Given the description of an element on the screen output the (x, y) to click on. 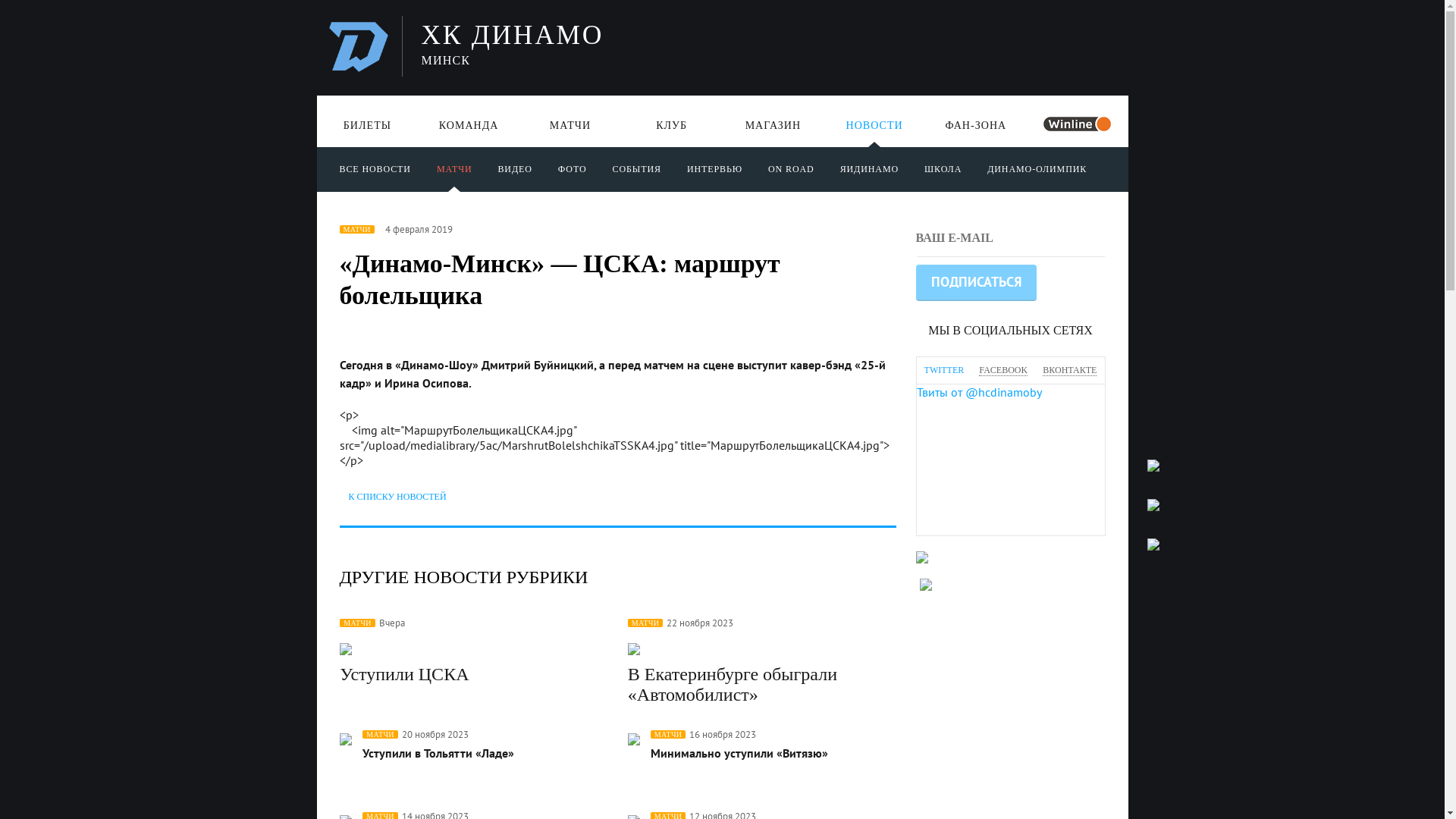
ON ROAD Element type: text (791, 166)
TWITTER Element type: text (943, 370)
Intagram Element type: text (1166, 359)
FACEBOOK Element type: text (1003, 370)
YouTube Element type: text (1166, 438)
Facebook Element type: text (1166, 280)
Twitter Element type: text (1166, 319)
Facebook Element type: text (1166, 241)
